Given the description of an element on the screen output the (x, y) to click on. 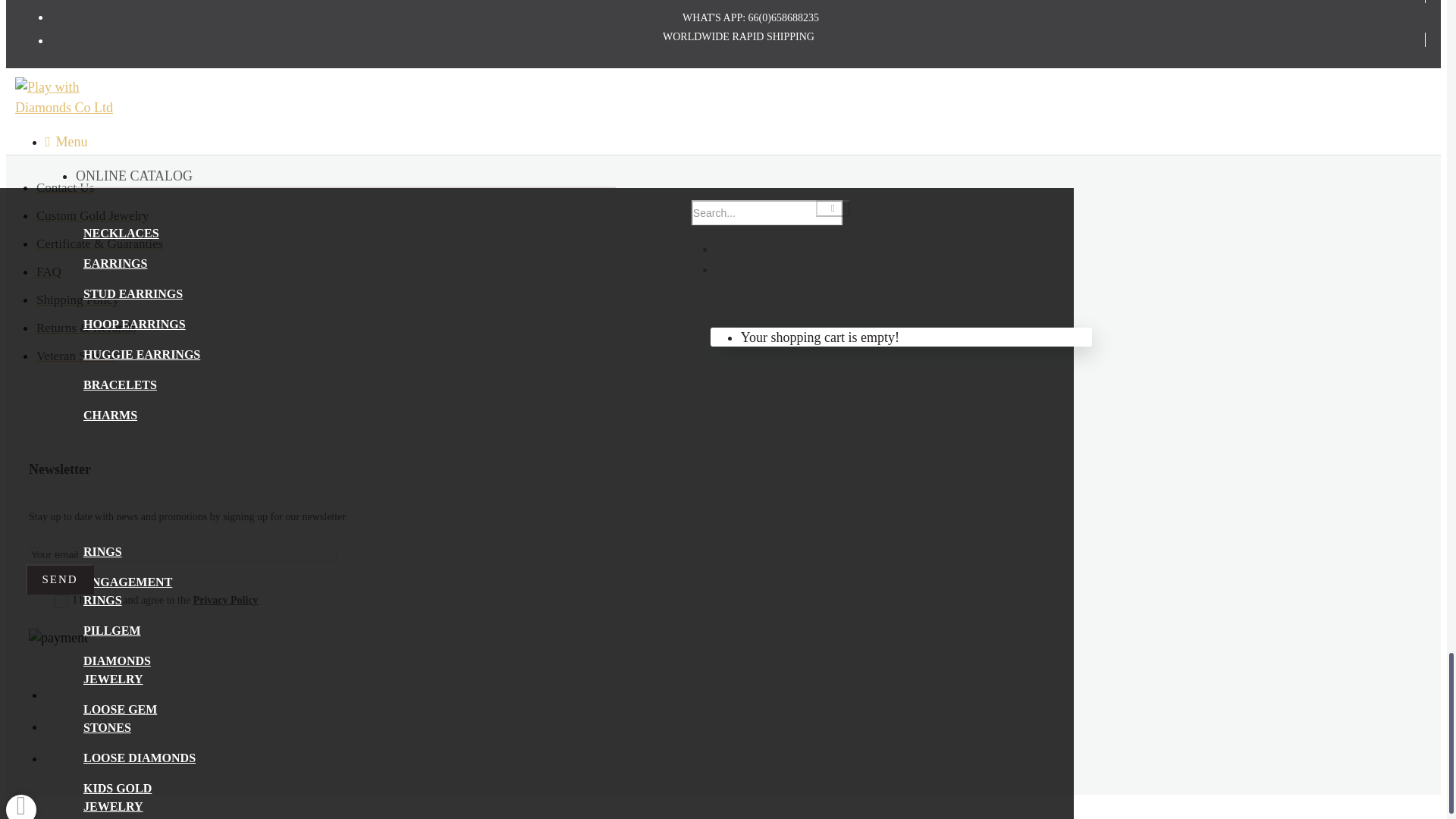
1 (61, 601)
